Given the description of an element on the screen output the (x, y) to click on. 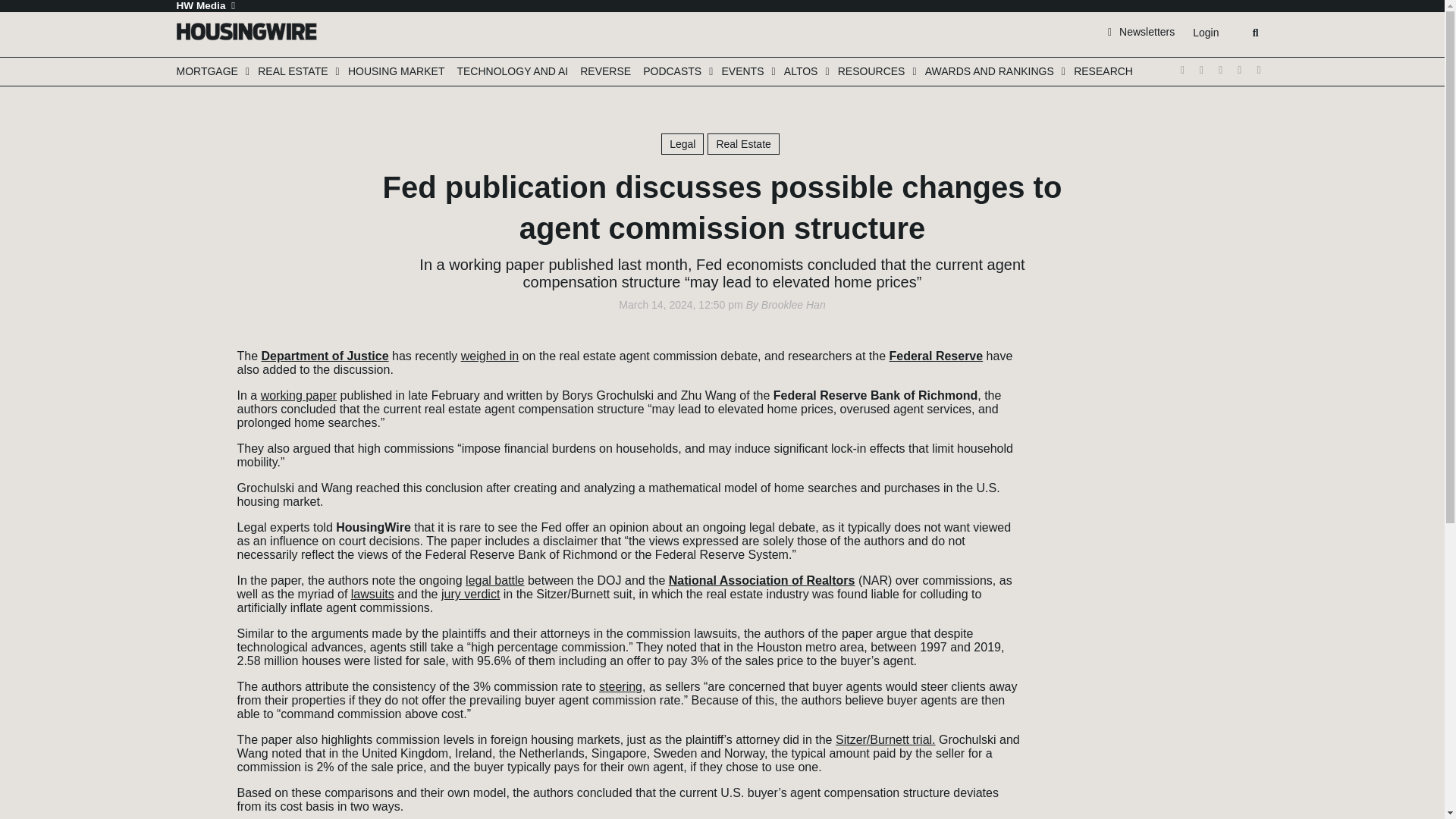
Click to share on Twitter (192, 350)
Login (1205, 32)
Click to email a link to a friend (192, 419)
Click to share on Facebook (192, 373)
Newsletters (1141, 31)
Posts by Brooklee Han (793, 304)
Click to copy link (192, 442)
Click to share on LinkedIn (192, 396)
